Given the description of an element on the screen output the (x, y) to click on. 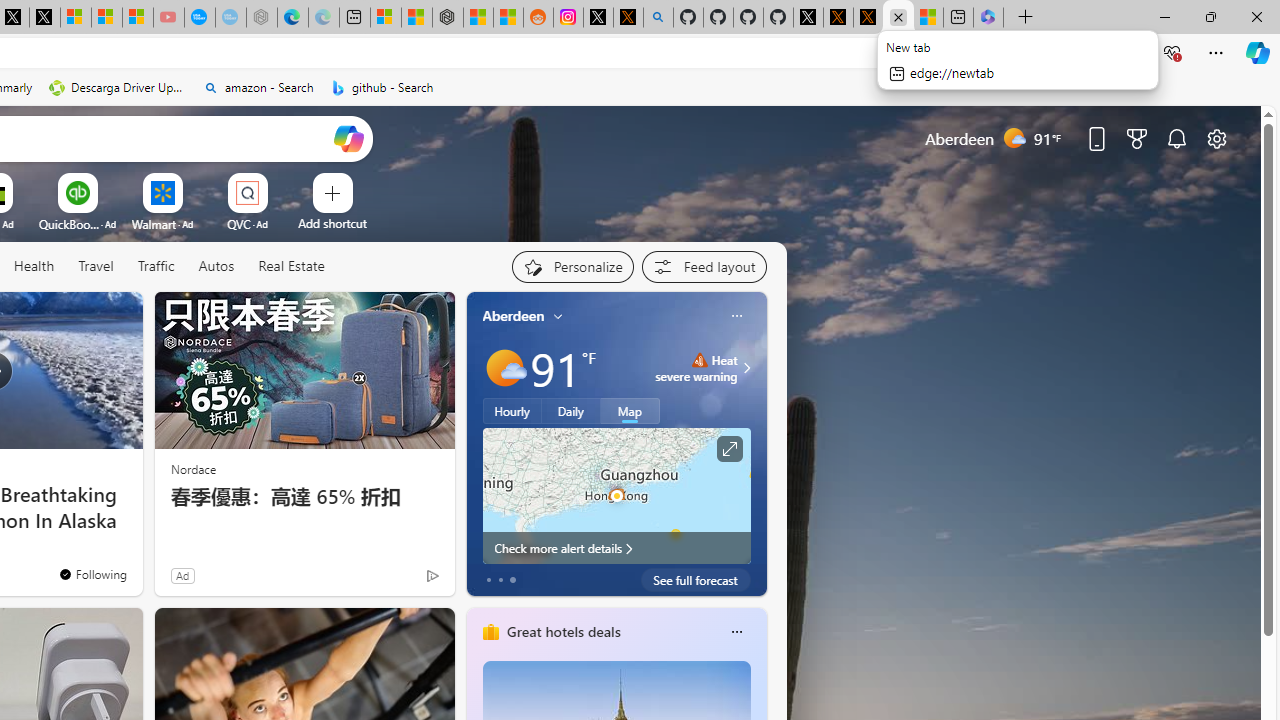
Add this page to favorites (Ctrl+D) (1030, 53)
Close tab (898, 16)
New tab (957, 17)
Aberdeen (513, 315)
Minimize (1164, 16)
Health (34, 265)
tab-1 (500, 579)
Split screen (1083, 52)
Mostly sunny (504, 368)
Health (33, 267)
